Given the description of an element on the screen output the (x, y) to click on. 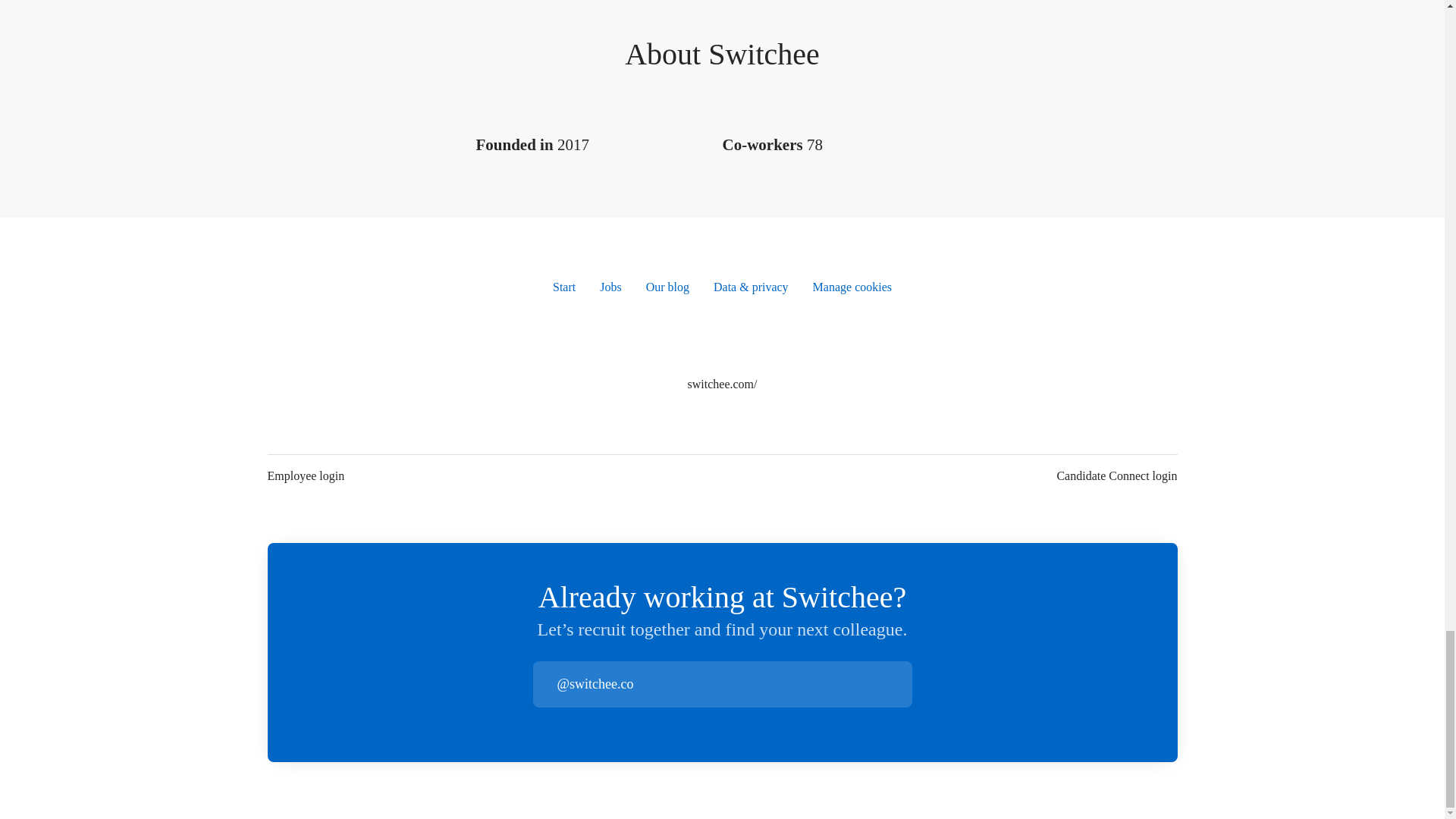
Log in (899, 684)
Start (564, 287)
Manage cookies (852, 287)
Our blog (667, 287)
Employee login (304, 475)
Candidate Connect login (1116, 475)
Jobs (610, 287)
